Given the description of an element on the screen output the (x, y) to click on. 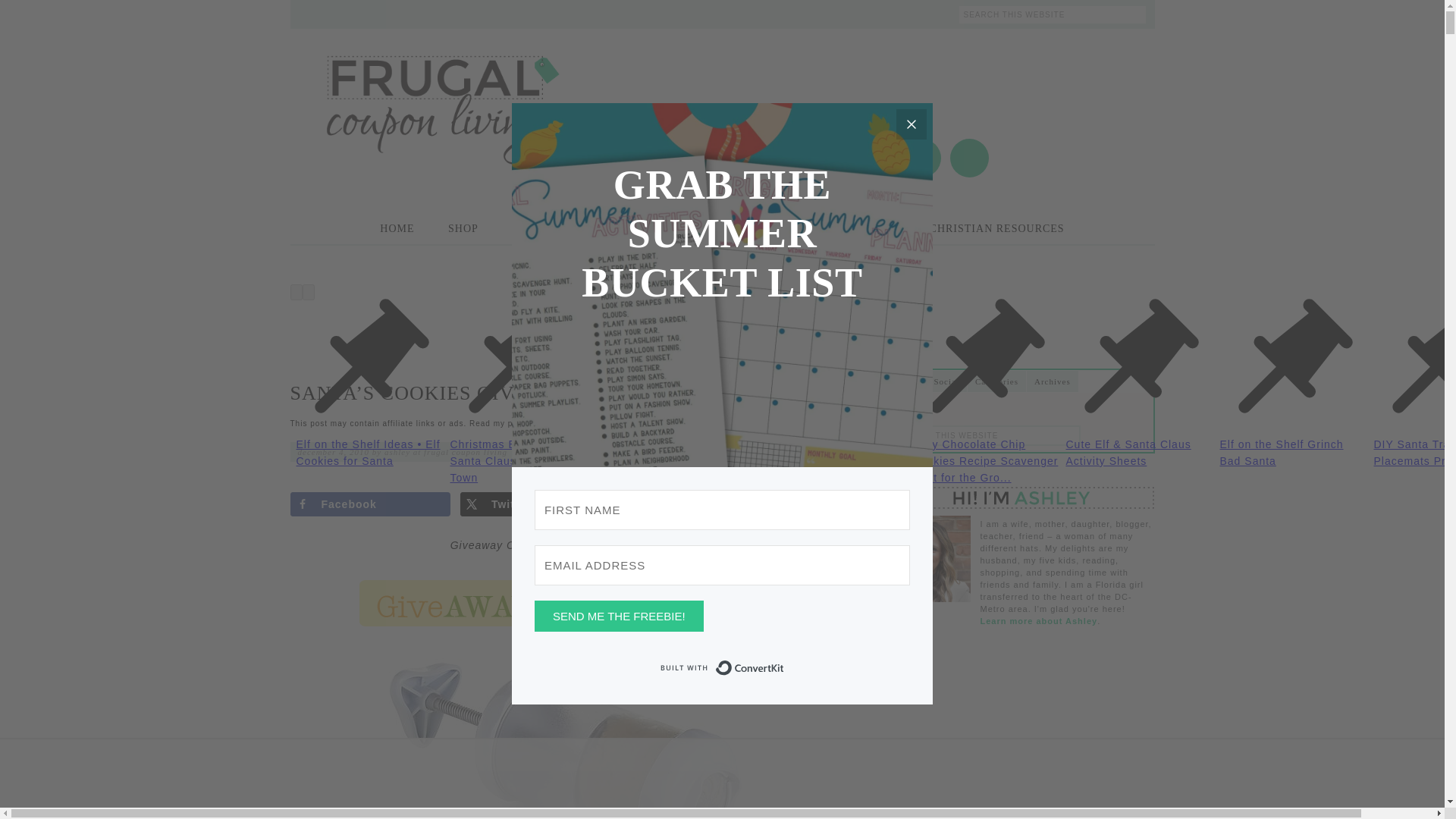
PRINTABLES (547, 228)
Save to Pinterest (710, 504)
SHOP (462, 228)
PARTY (710, 228)
SEASONAL (864, 228)
Frugal Coupon Living (441, 90)
HOME (397, 228)
Share on Facebook (369, 504)
Share on X (540, 504)
GAMES (637, 228)
DEALS (780, 228)
